Given the description of an element on the screen output the (x, y) to click on. 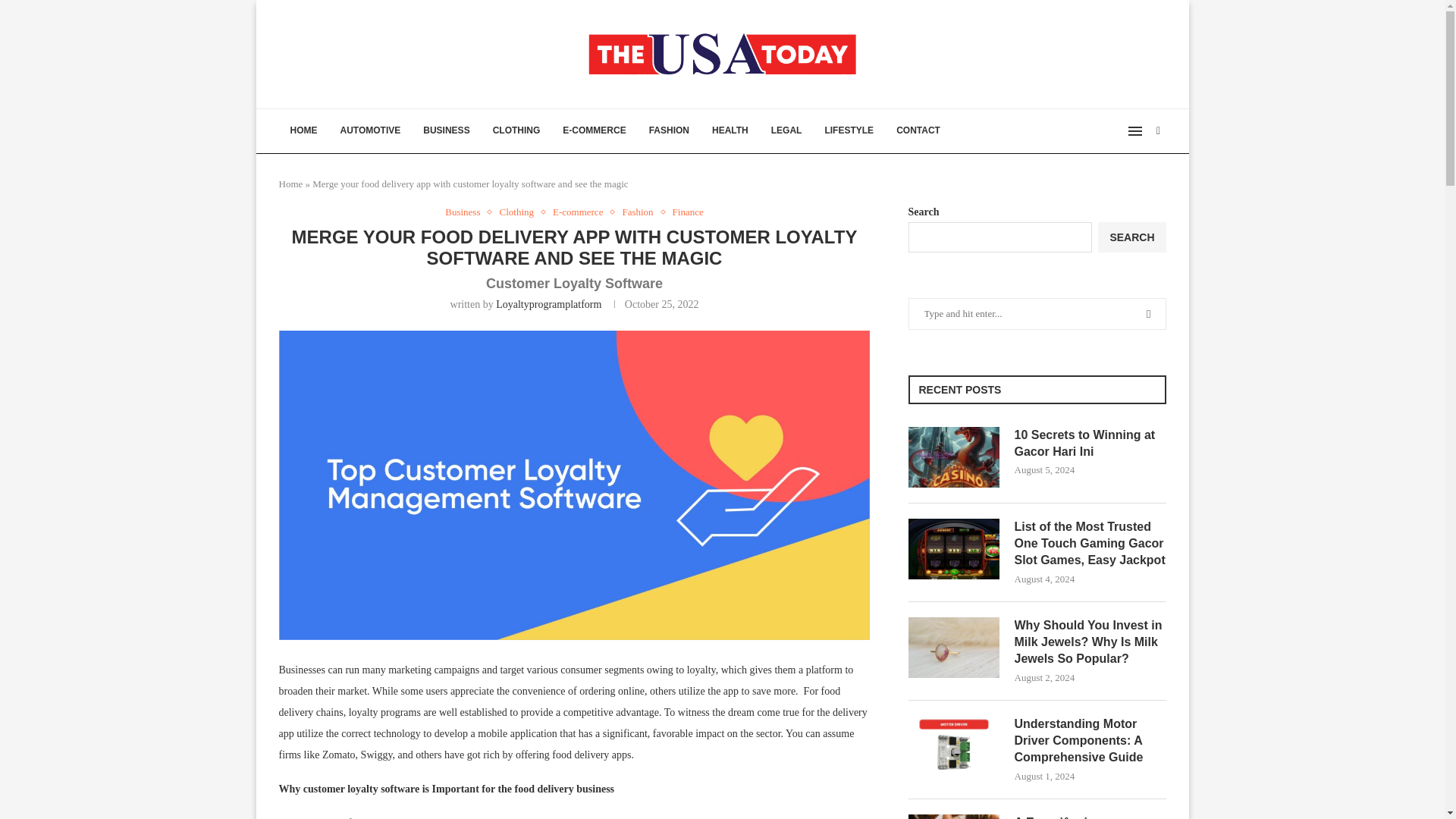
10 Secrets to Winning at Gacor Hari Ini (1090, 443)
HOME (304, 130)
AUTOMOTIVE (370, 130)
HEALTH (730, 130)
Finance (687, 212)
Fashion (641, 212)
CLOTHING (516, 130)
BUSINESS (446, 130)
LIFESTYLE (848, 130)
